Given the description of an element on the screen output the (x, y) to click on. 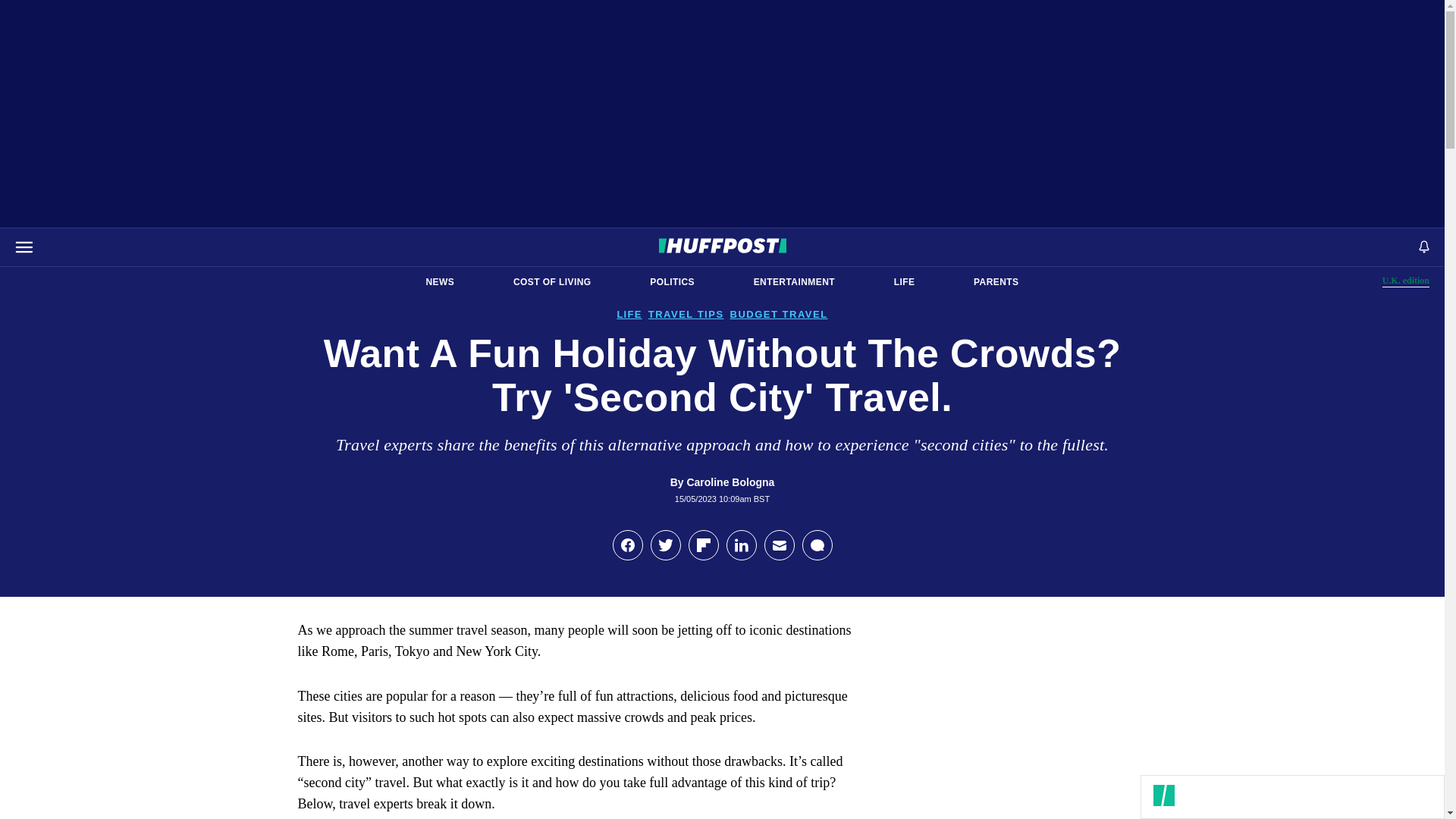
NEWS (440, 281)
COST OF LIVING (552, 281)
ENTERTAINMENT (794, 281)
PARENTS (1405, 281)
POLITICS (995, 281)
LIFE (671, 281)
